Given the description of an element on the screen output the (x, y) to click on. 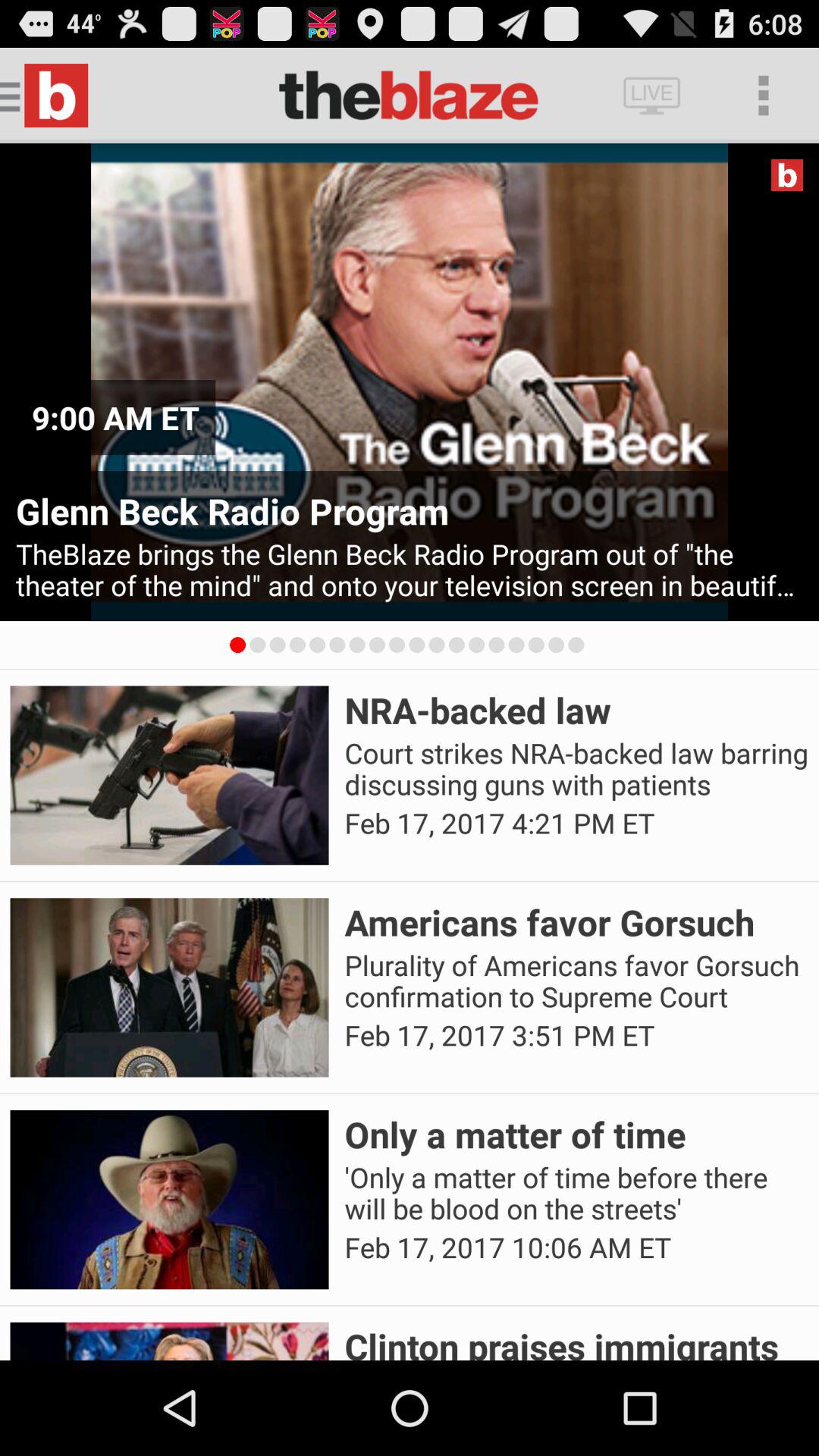
turn on the item below the glenn beck radio icon (409, 570)
